Given the description of an element on the screen output the (x, y) to click on. 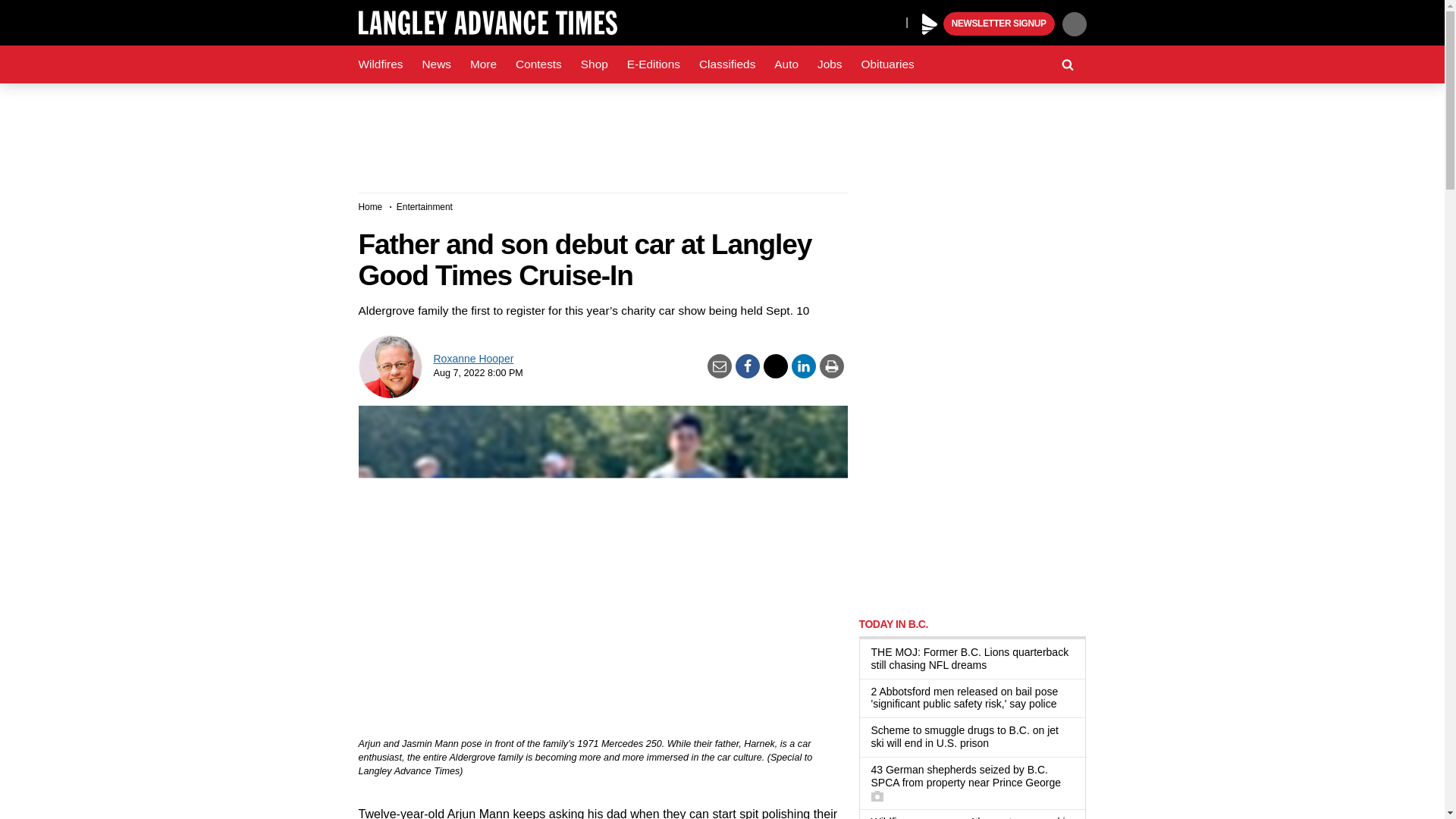
Has a gallery (876, 796)
NEWSLETTER SIGNUP (998, 24)
Play (929, 24)
Black Press Media (929, 24)
Wildfires (380, 64)
News (435, 64)
X (889, 21)
